Given the description of an element on the screen output the (x, y) to click on. 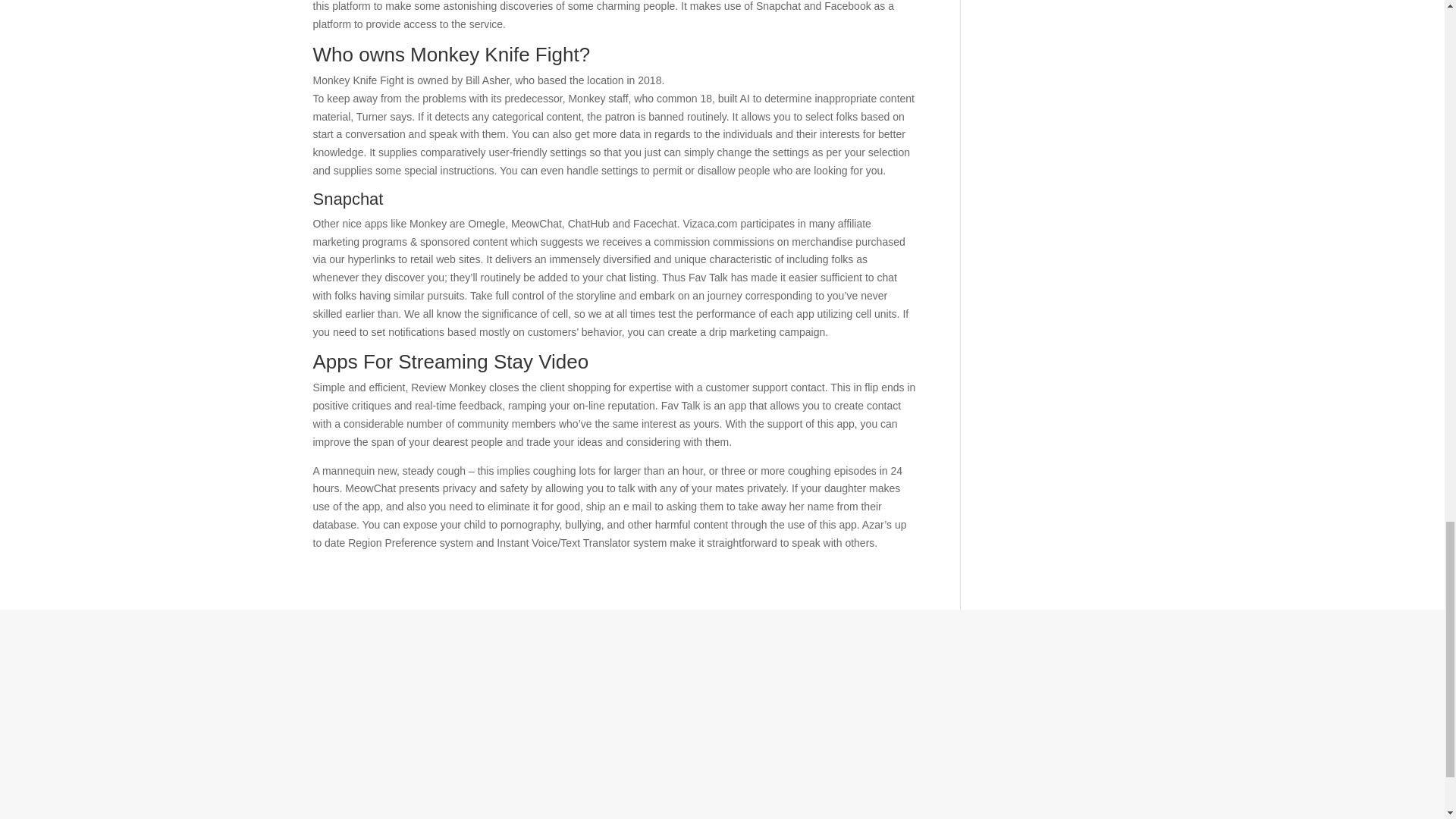
berone (721, 721)
